Given the description of an element on the screen output the (x, y) to click on. 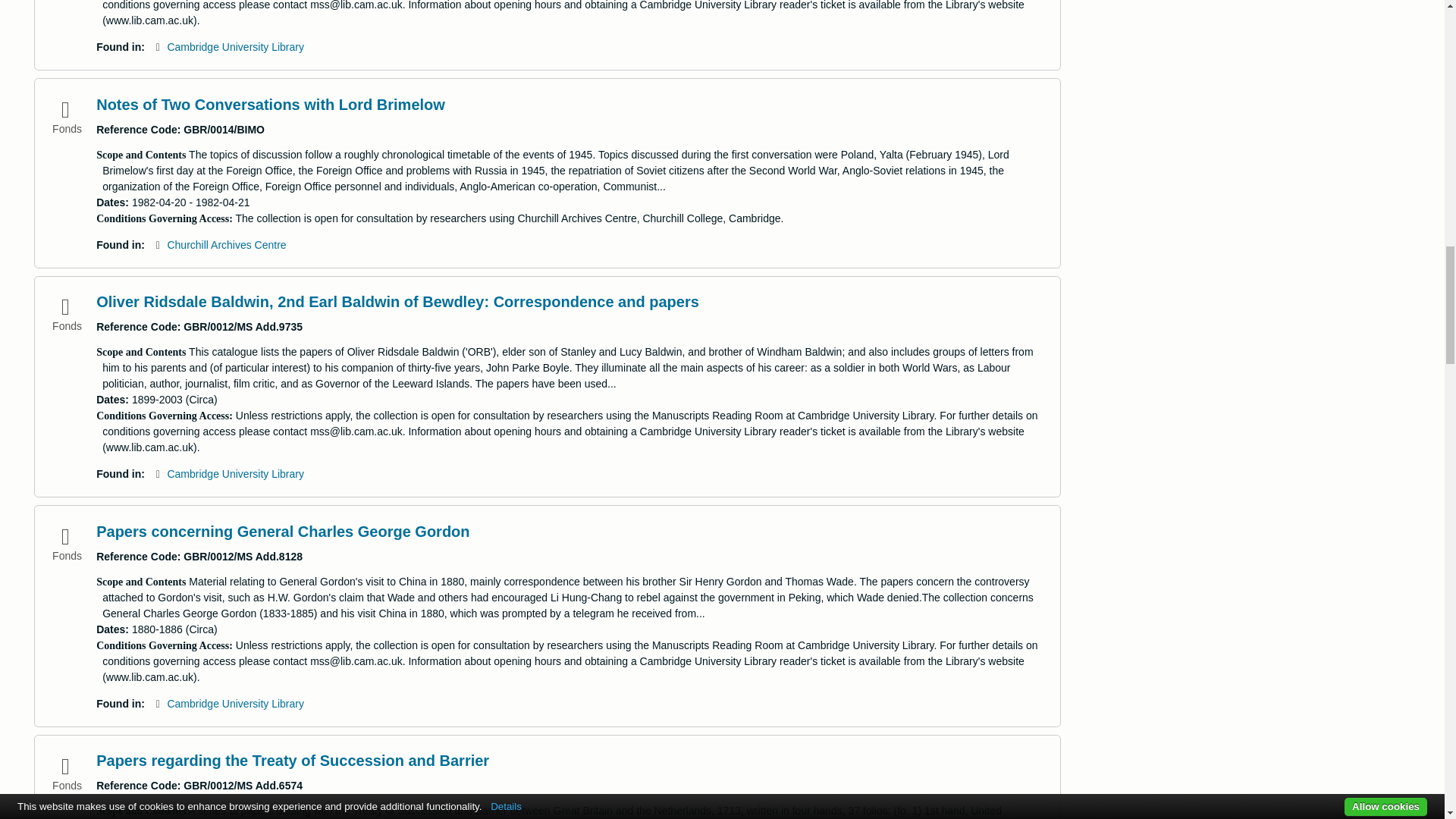
Papers concerning General Charles George Gordon (282, 531)
Notes of Two Conversations with Lord Brimelow (270, 104)
Cambridge University Library (235, 46)
Churchill Archives Centre (226, 244)
Cambridge University Library (235, 703)
Papers regarding the Treaty of Succession and Barrier (292, 760)
Cambridge University Library (235, 473)
